Given the description of an element on the screen output the (x, y) to click on. 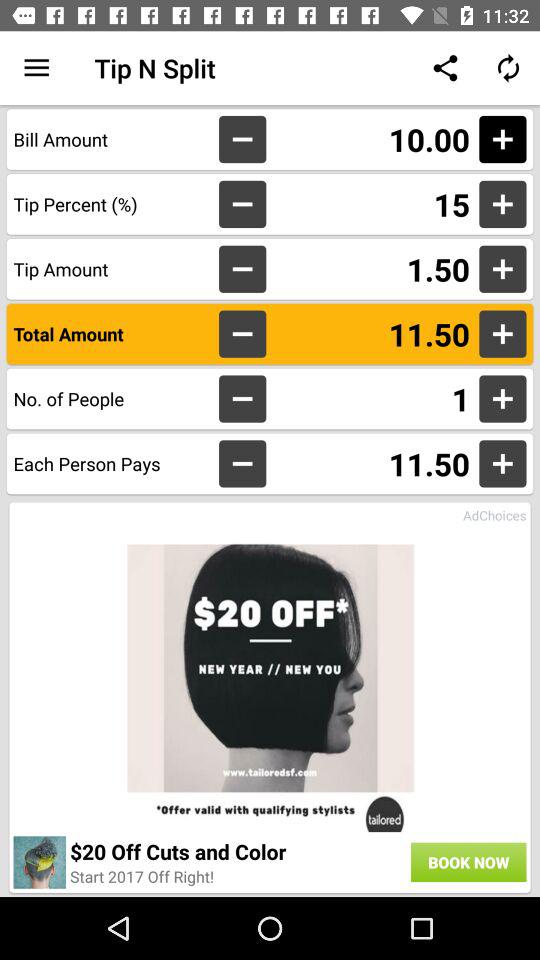
launch the icon next to tip n split icon (36, 68)
